Given the description of an element on the screen output the (x, y) to click on. 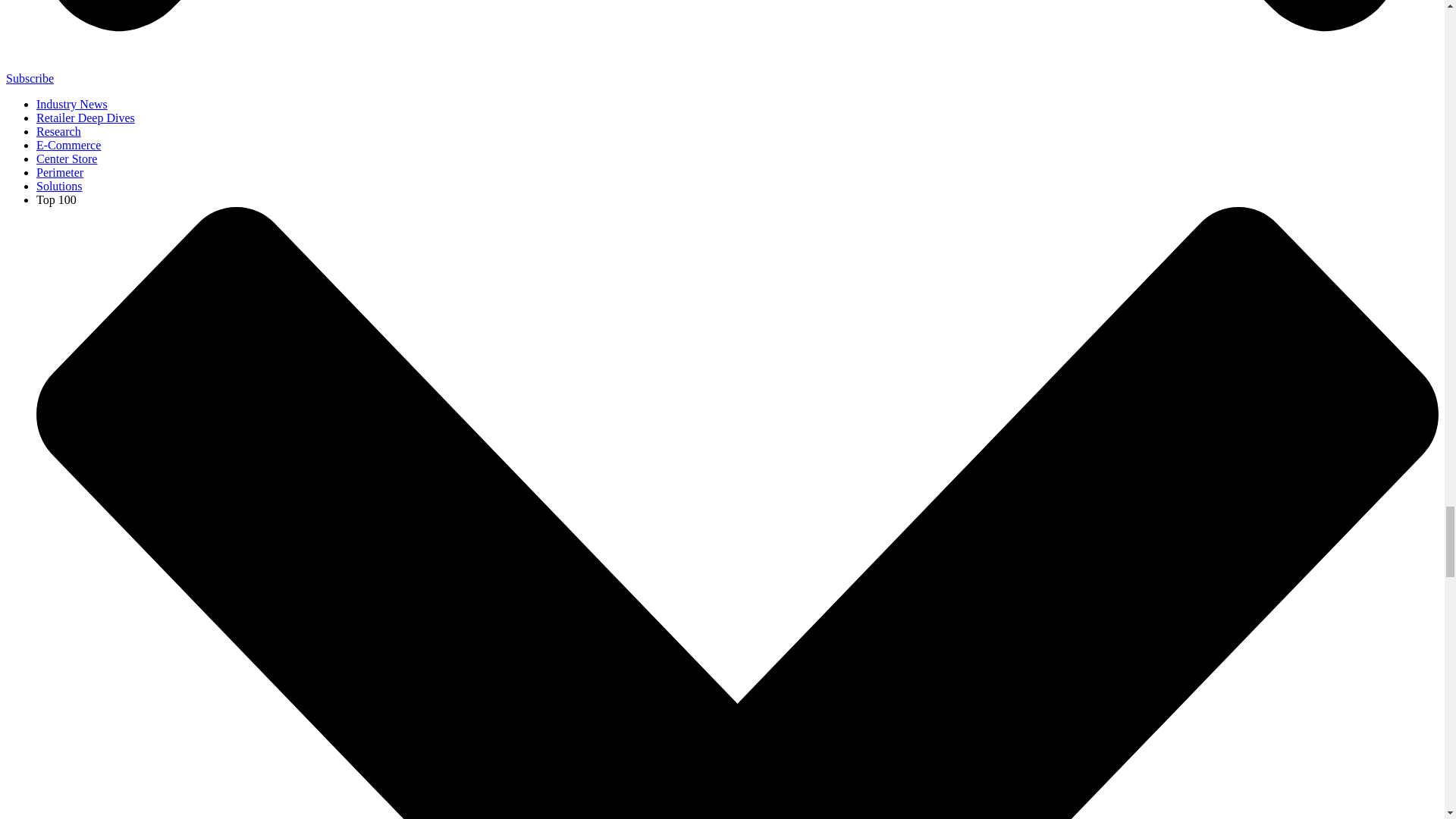
E-Commerce (68, 144)
Retailer Deep Dives (85, 117)
Solutions (58, 185)
Industry News (71, 103)
Center Store (66, 158)
Research (58, 131)
Perimeter (59, 172)
Top 100 (56, 199)
Subscribe (29, 78)
